Given the description of an element on the screen output the (x, y) to click on. 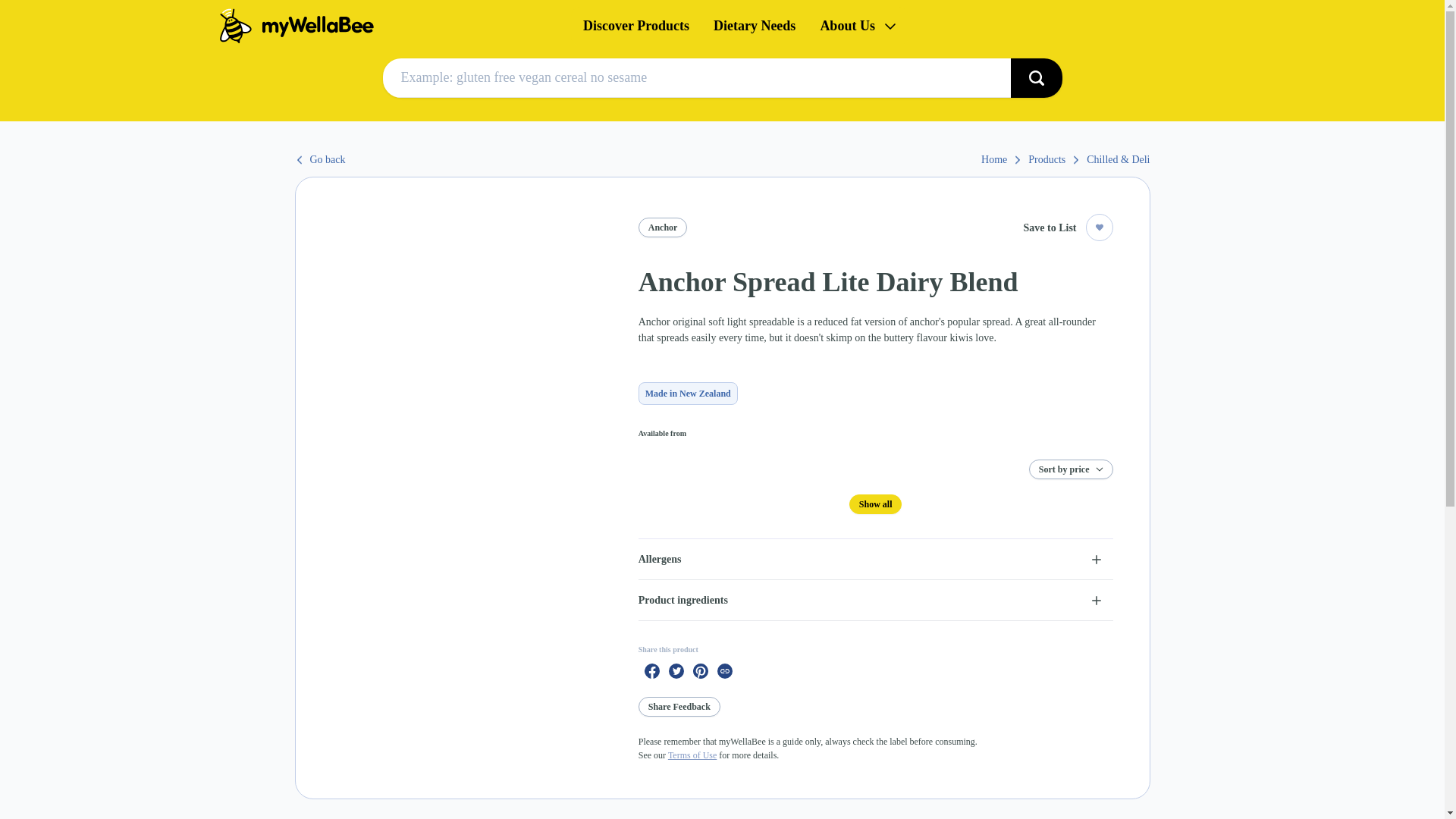
About Us (858, 25)
Go back (319, 159)
Share Feedback (679, 706)
Products (1053, 159)
Show all (875, 504)
Home (392, 26)
Home (1001, 159)
Search (1035, 77)
Sort by price (1071, 469)
Made in New Zealand (688, 393)
